Given the description of an element on the screen output the (x, y) to click on. 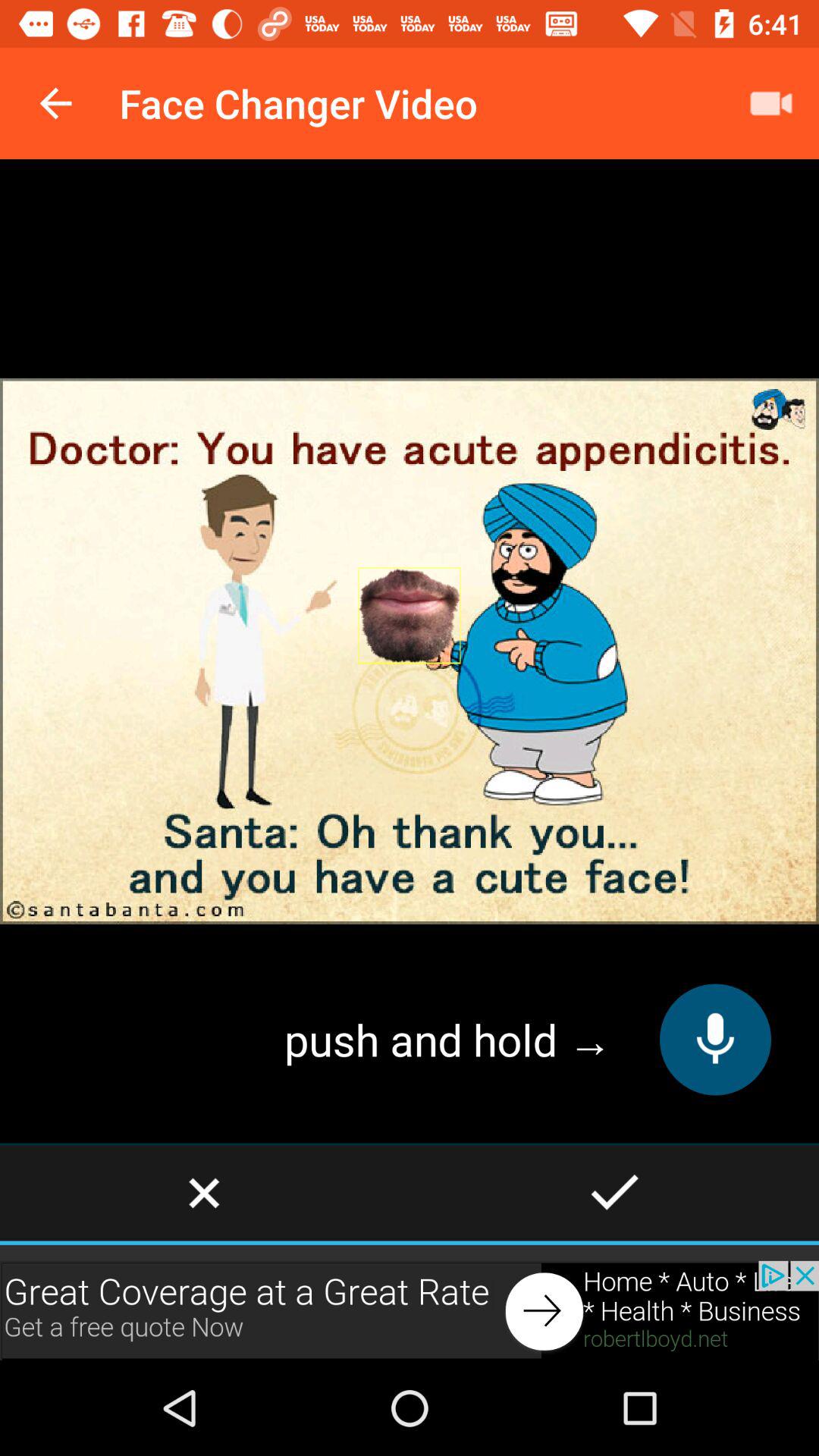
know about the advertisement (409, 1310)
